Given the description of an element on the screen output the (x, y) to click on. 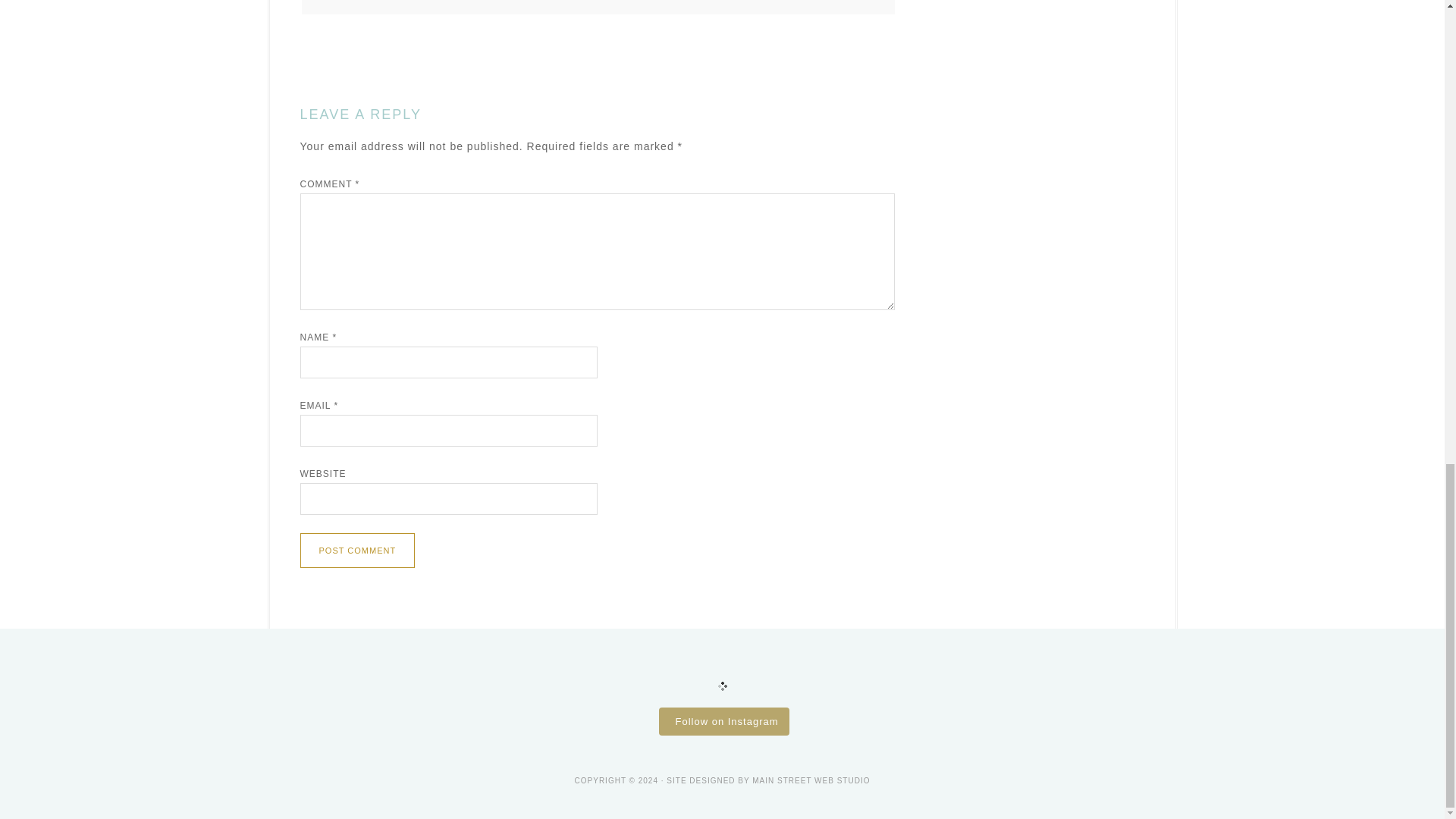
Post Comment (356, 550)
